Given the description of an element on the screen output the (x, y) to click on. 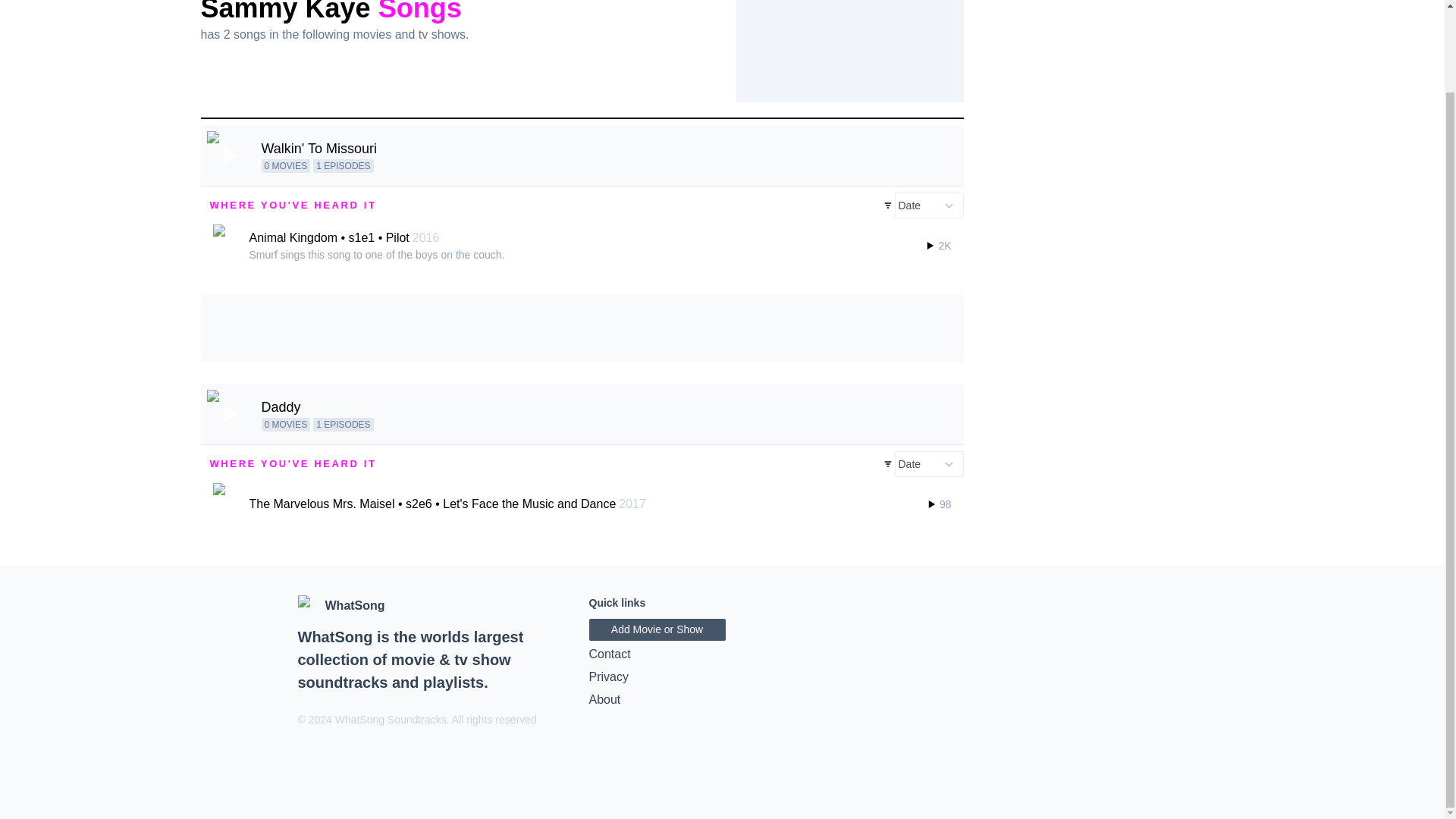
Daddy (279, 407)
Add Movie or Show (656, 629)
About (722, 700)
Privacy (722, 677)
Contact (722, 654)
Walkin' To Missouri (317, 148)
